Given the description of an element on the screen output the (x, y) to click on. 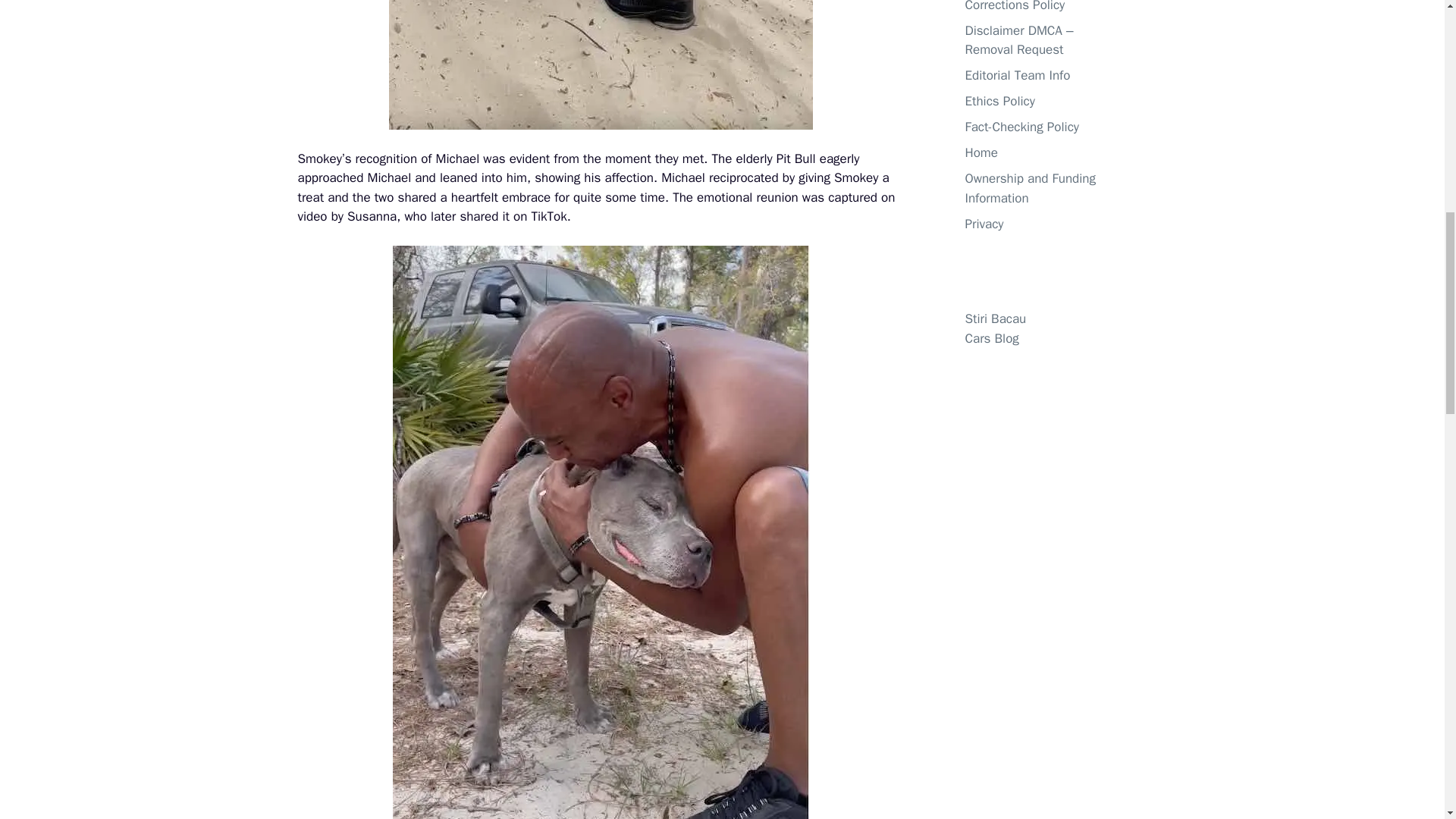
Corrections Policy (1013, 6)
Cars Blog (990, 338)
Fact-Checking Policy (1020, 126)
Stiri Bacau (994, 318)
Ethics Policy (998, 100)
Scroll back to top (1406, 720)
Home (980, 152)
Ownership and Funding Information (1028, 188)
Editorial Team Info (1016, 75)
